Given the description of an element on the screen output the (x, y) to click on. 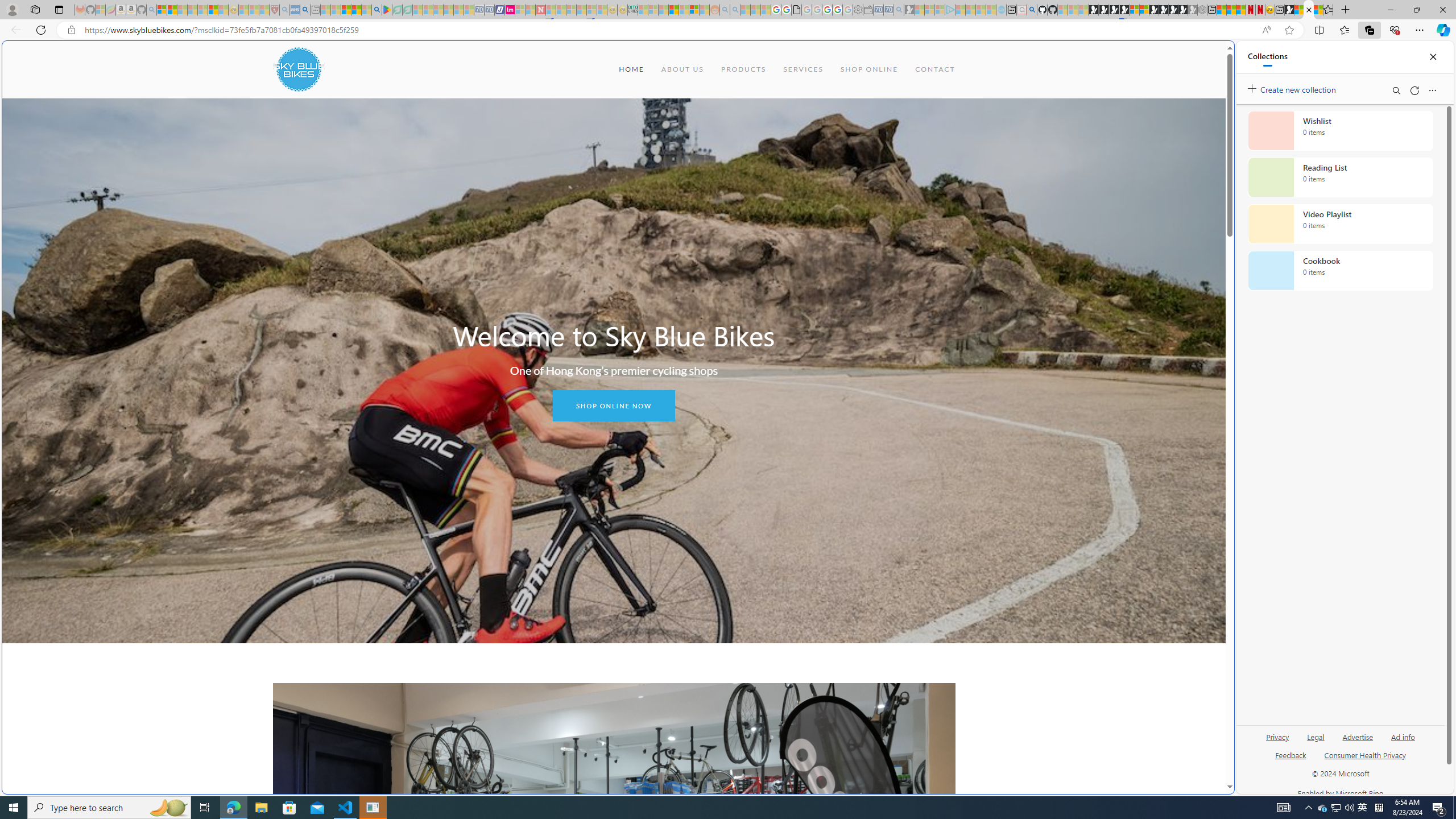
Cookbook collection, 0 items (1339, 270)
SHOP ONLINE NOW (613, 405)
SERVICES (802, 68)
